Given the description of an element on the screen output the (x, y) to click on. 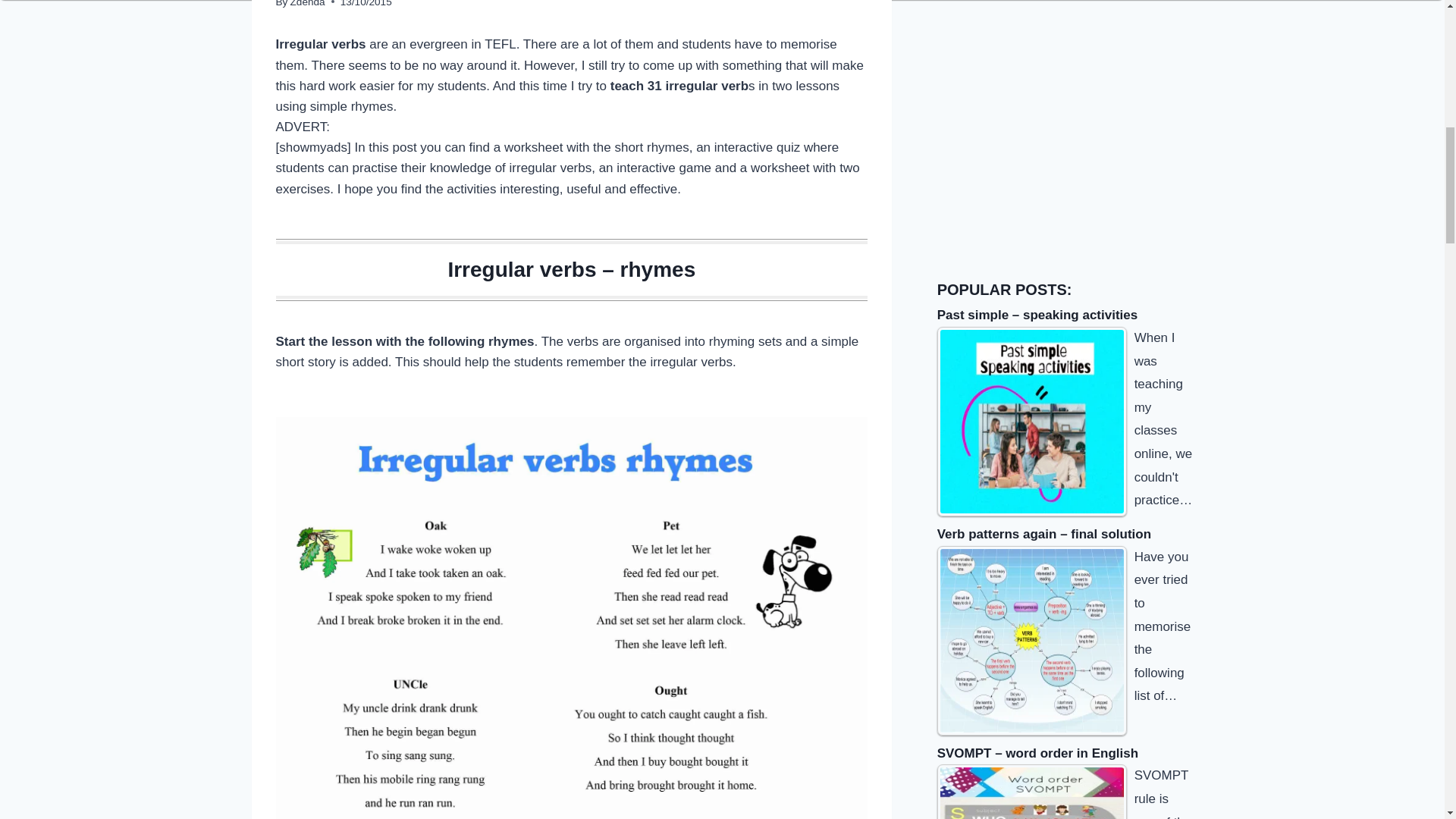
SVOMPT - word order in English (1031, 791)
Zdenda (306, 3)
Advertisement (1050, 126)
Verb patterns again - final solution (1031, 640)
Past simple - speaking activities (1031, 421)
